Given the description of an element on the screen output the (x, y) to click on. 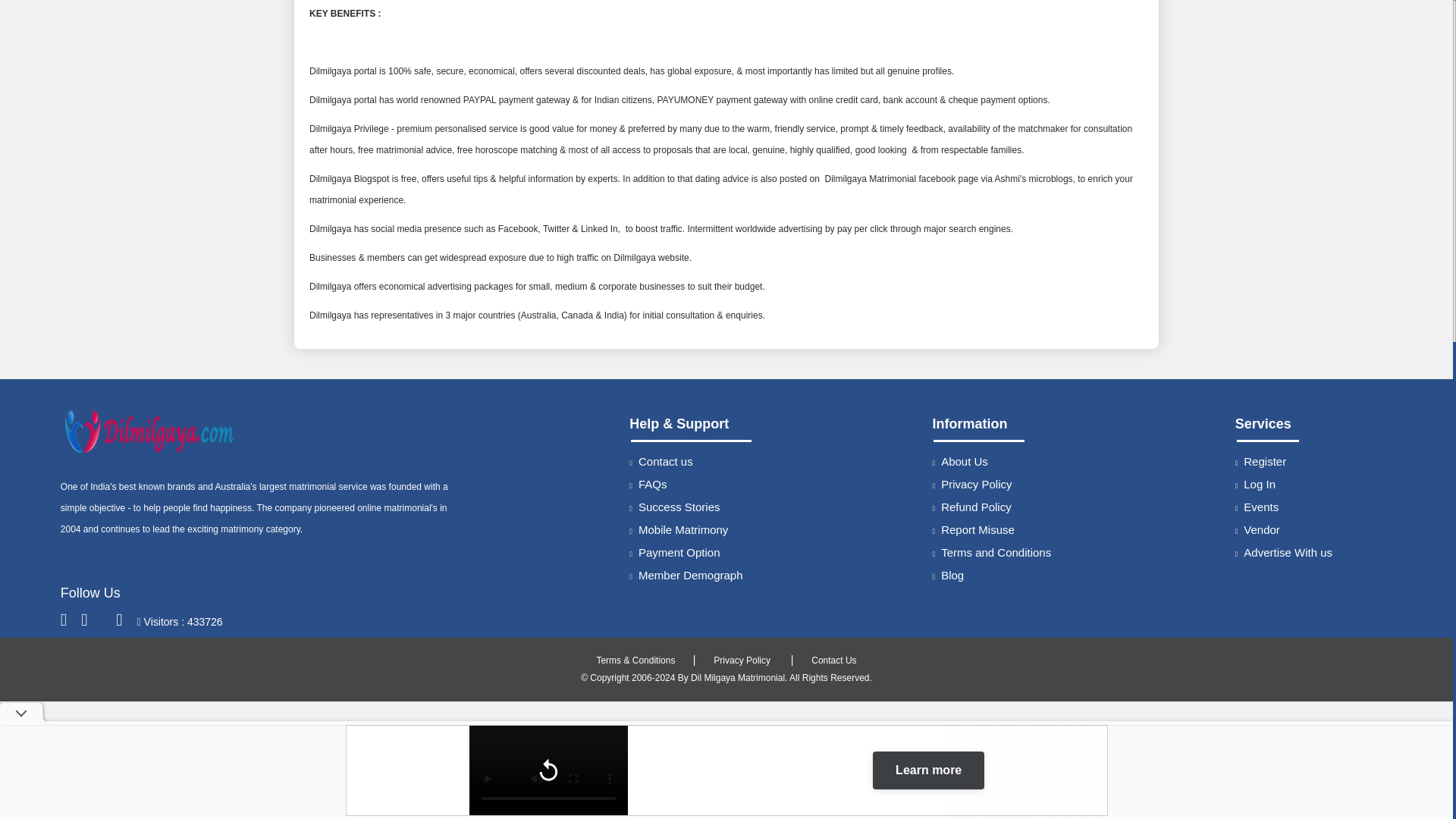
FAQs (647, 483)
Mobile Matrimony (678, 529)
Contact us (660, 461)
Payment Option (673, 552)
Success Stories (673, 506)
Advertisement (727, 185)
